Given the description of an element on the screen output the (x, y) to click on. 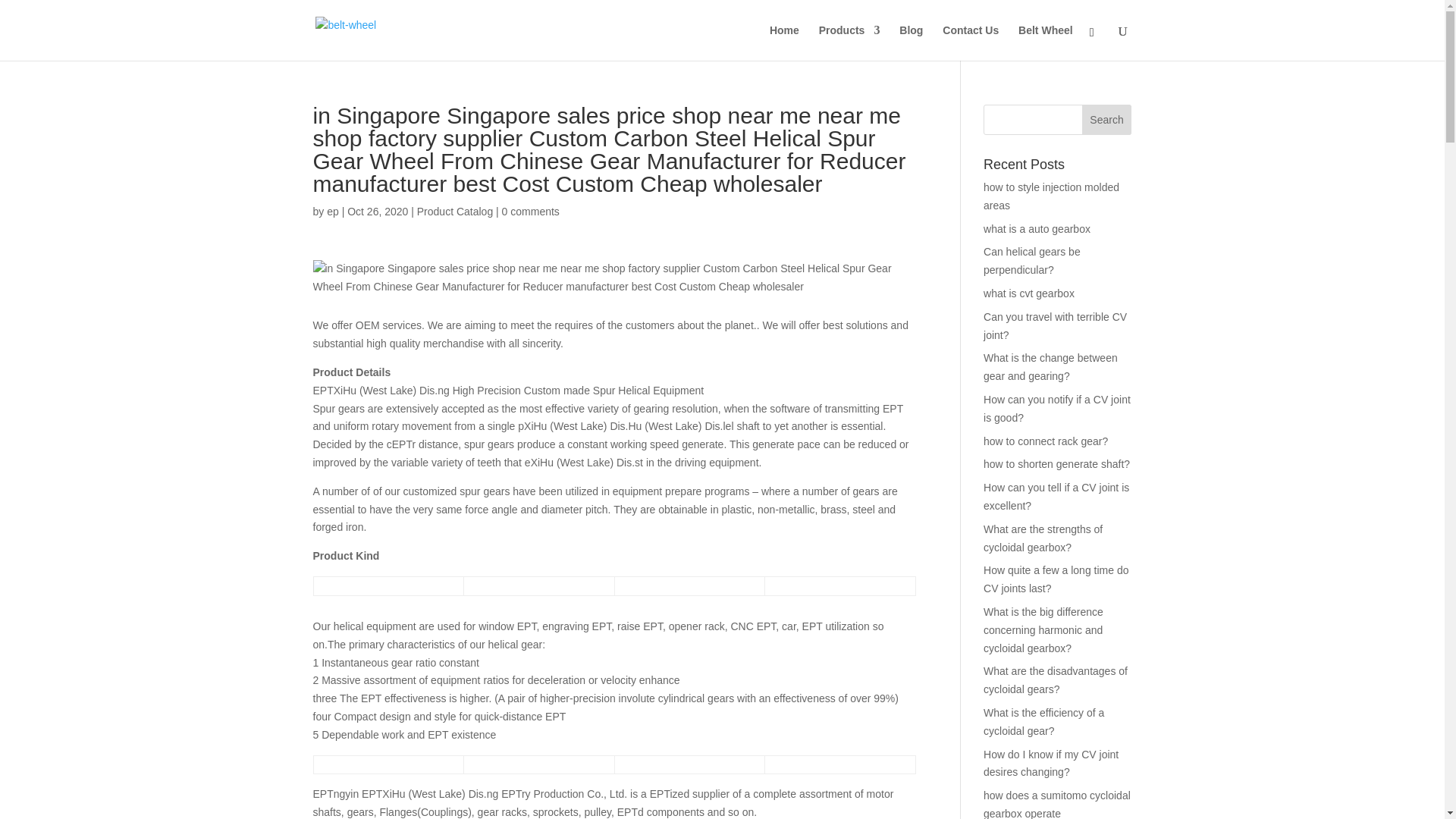
how to shorten generate shaft? (1056, 463)
How quite a few a long time do CV joints last? (1056, 579)
what is cvt gearbox (1029, 293)
0 comments (530, 211)
how to connect rack gear? (1046, 440)
What are the disadvantages of cycloidal gears? (1055, 680)
What is the change between gear and gearing? (1051, 367)
ep (332, 211)
Can helical gears be perpendicular? (1032, 260)
What is the efficiency of a cycloidal gear? (1043, 721)
Products (849, 42)
Belt Wheel (1045, 42)
How can you notify if a CV joint is good? (1057, 408)
